Given the description of an element on the screen output the (x, y) to click on. 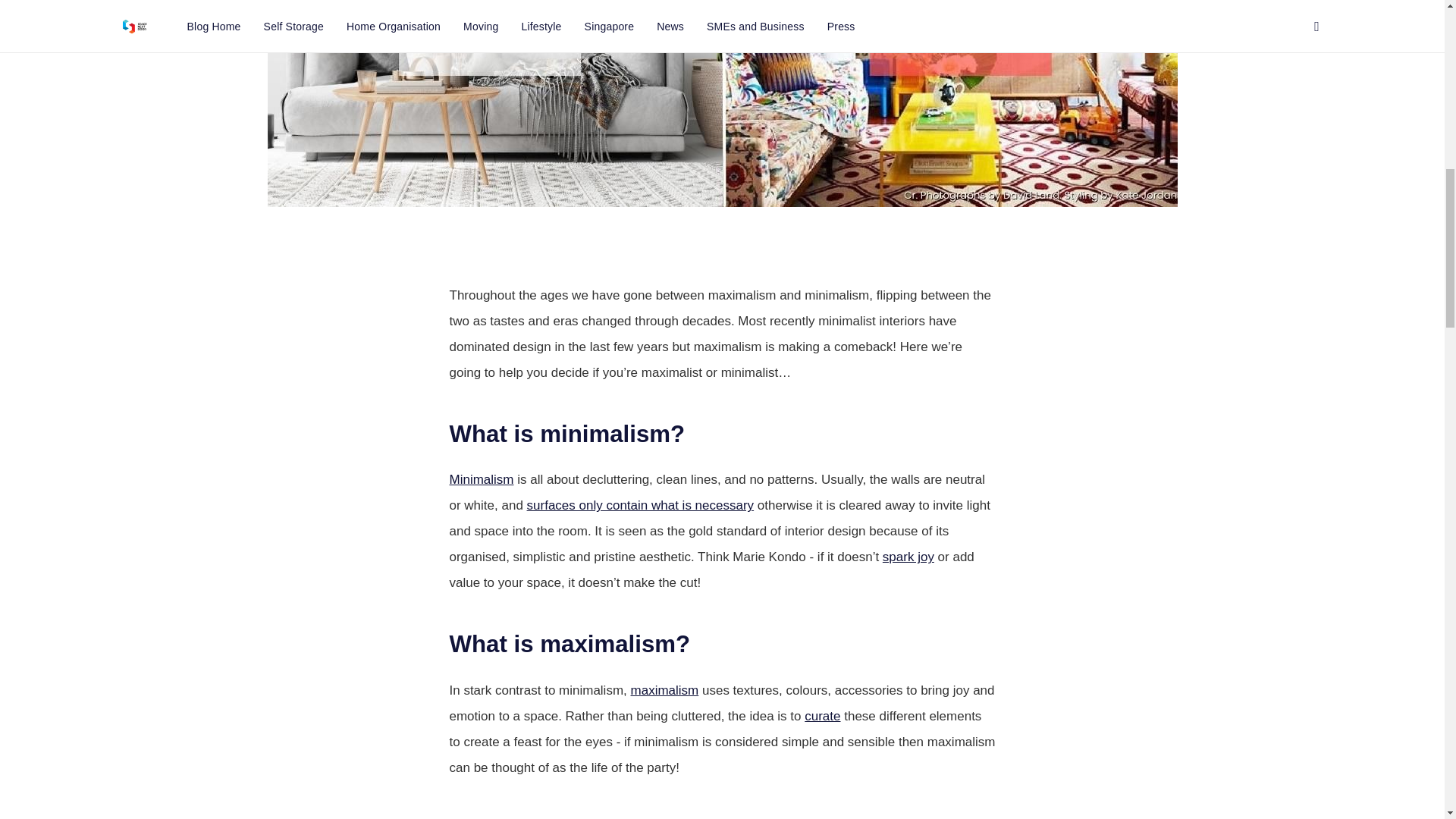
surfaces only contain what is necessary (640, 504)
Minimalism (480, 479)
spark joy (908, 556)
curate (822, 716)
maximalism (664, 690)
